Given the description of an element on the screen output the (x, y) to click on. 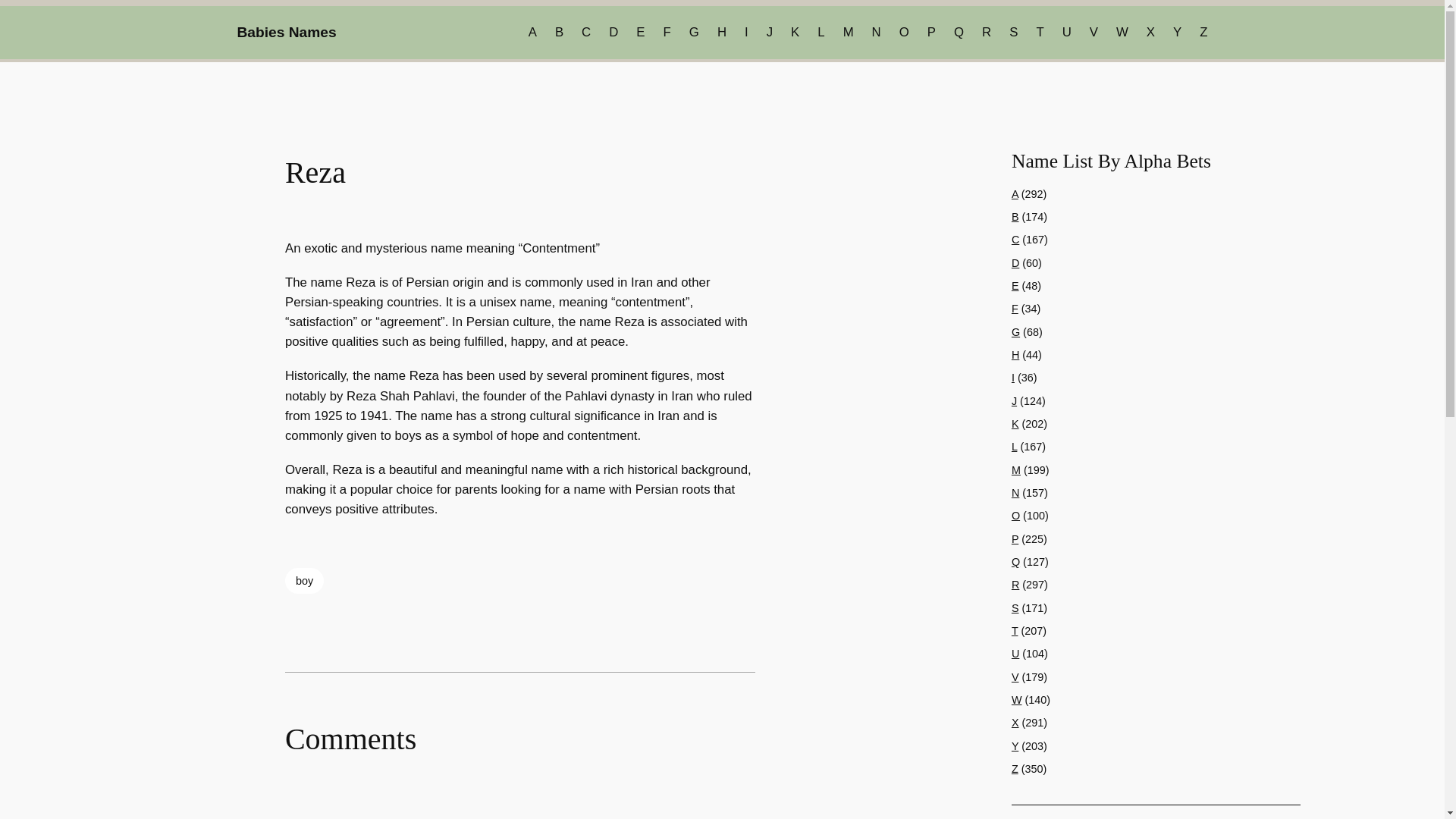
Babies Names (285, 32)
boy (304, 580)
